Given the description of an element on the screen output the (x, y) to click on. 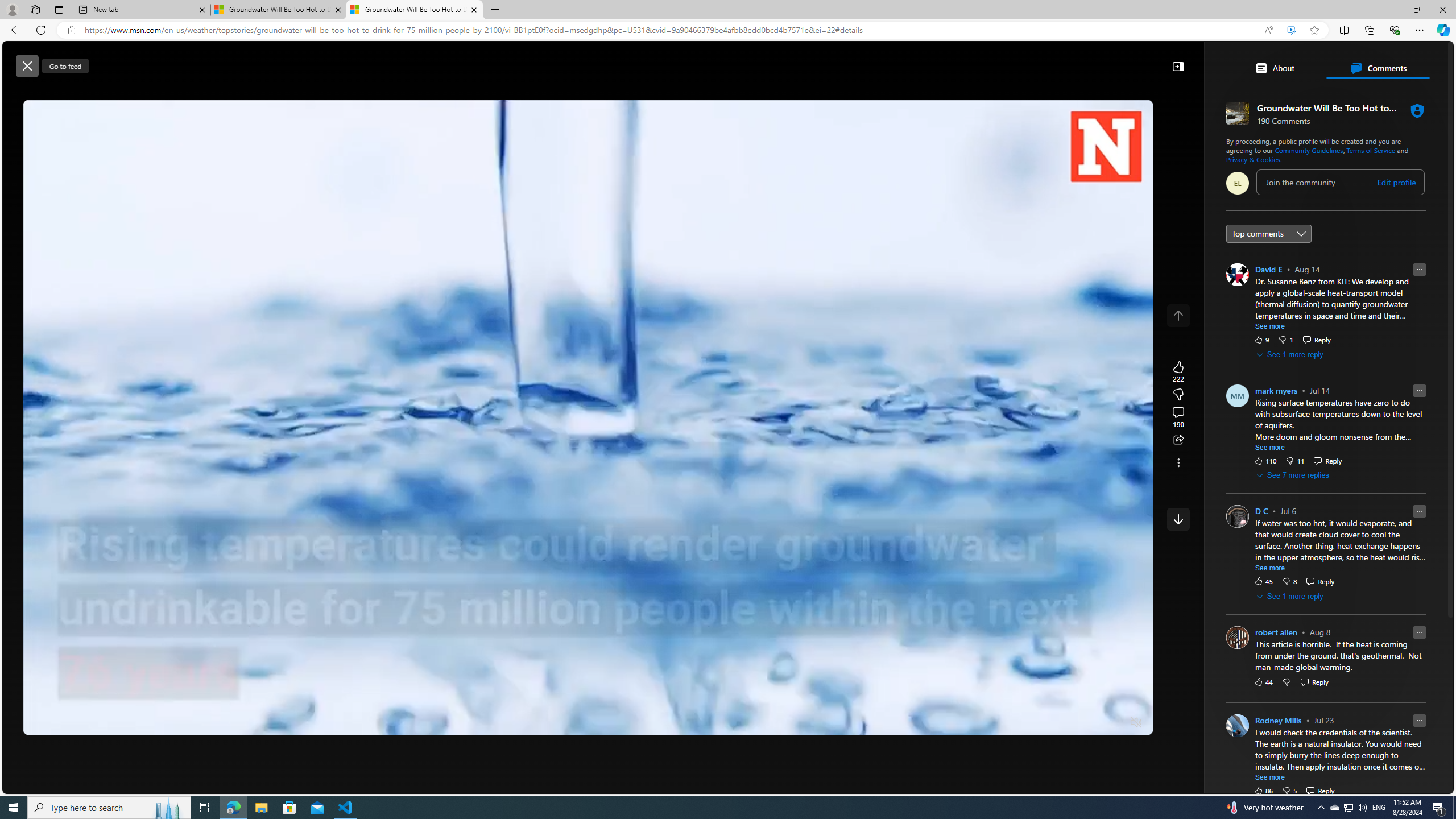
Go to feed (65, 65)
Ad (1162, 601)
Profile Picture (1237, 725)
About (1274, 67)
